Given the description of an element on the screen output the (x, y) to click on. 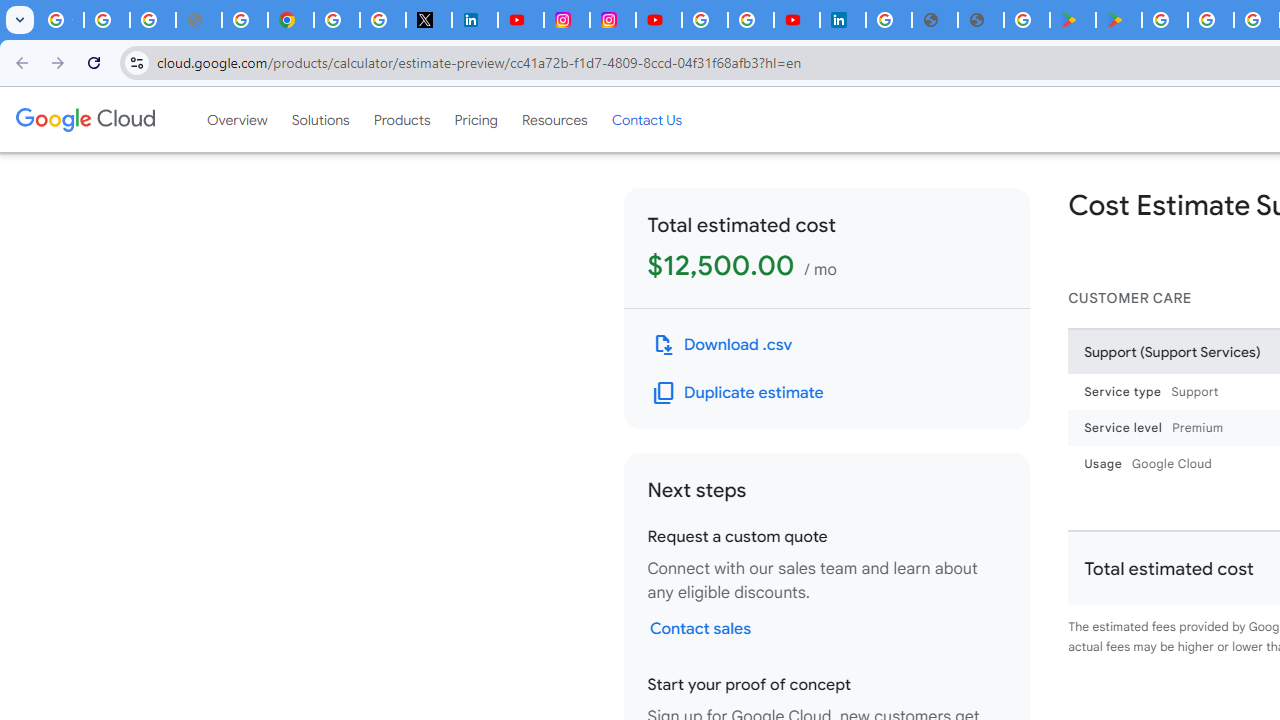
Pricing (476, 119)
Privacy Help Center - Policies Help (244, 20)
X (428, 20)
Products (401, 119)
Contact sales (699, 628)
Solutions (320, 119)
